Given the description of an element on the screen output the (x, y) to click on. 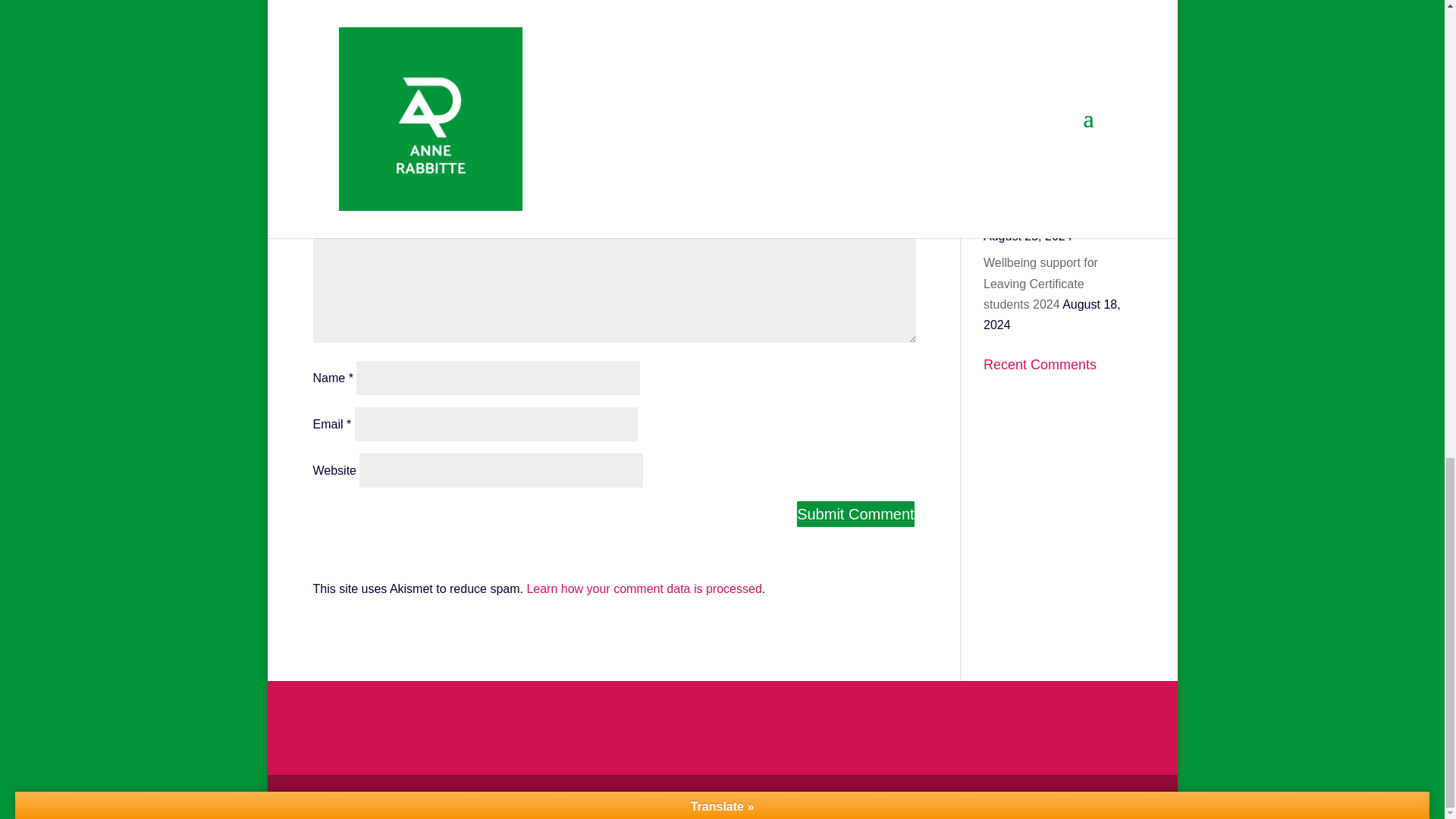
twitter (536, 9)
facebook (383, 9)
Like (536, 46)
Learn how your comment data is processed (643, 588)
Gmail (690, 46)
Submit Comment (854, 513)
linkedin (844, 9)
Submit Comment (854, 513)
Print (690, 9)
Buffer (383, 46)
